Given the description of an element on the screen output the (x, y) to click on. 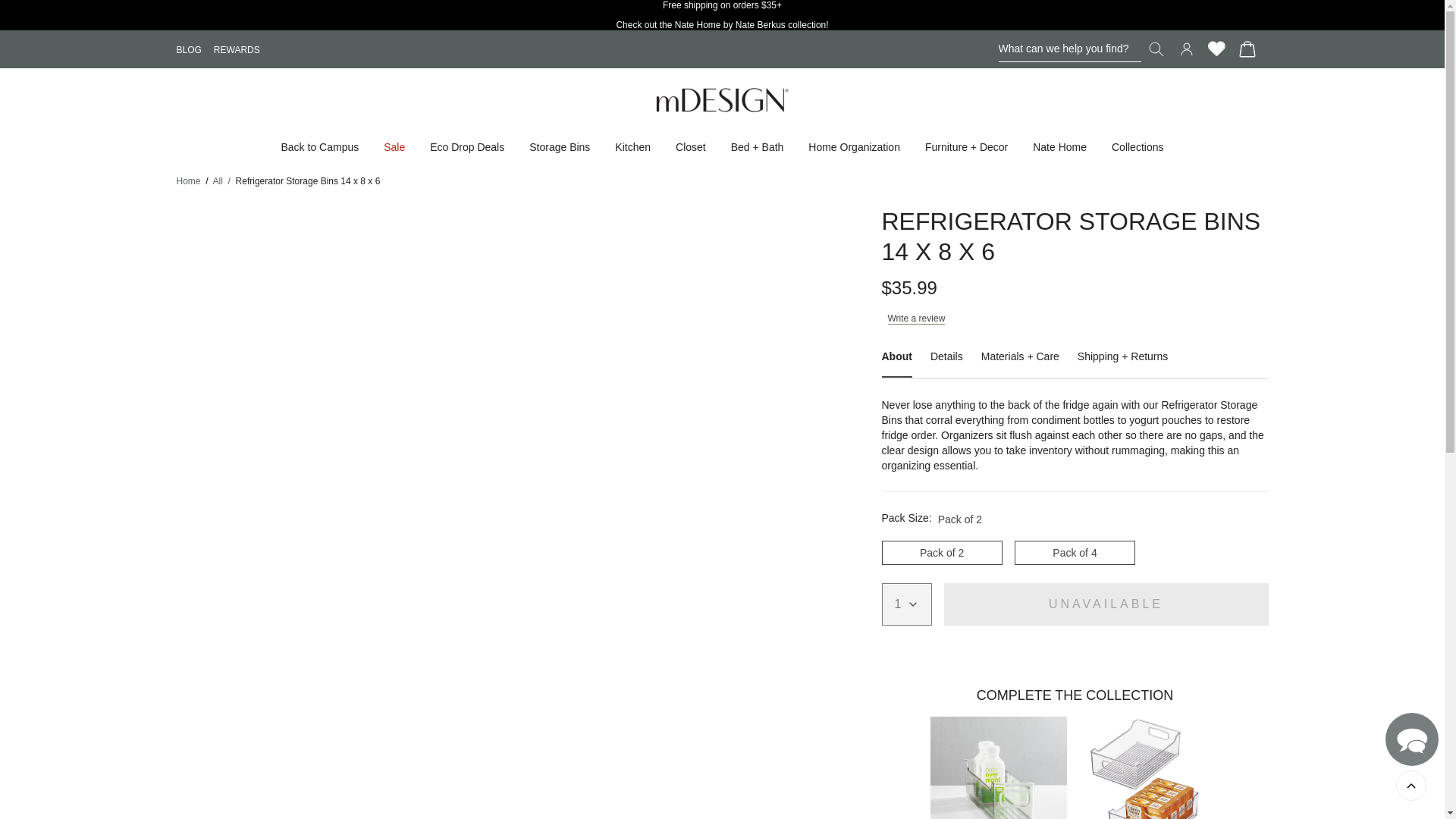
Rewards (1216, 49)
BLOG (188, 49)
Check out the Nate Home by Nate Berkus collection! (721, 24)
Storage Bins (559, 146)
Cart (1246, 49)
Account (1185, 49)
Sale (394, 146)
REWARDS (237, 49)
Back to Campus (319, 146)
